Given the description of an element on the screen output the (x, y) to click on. 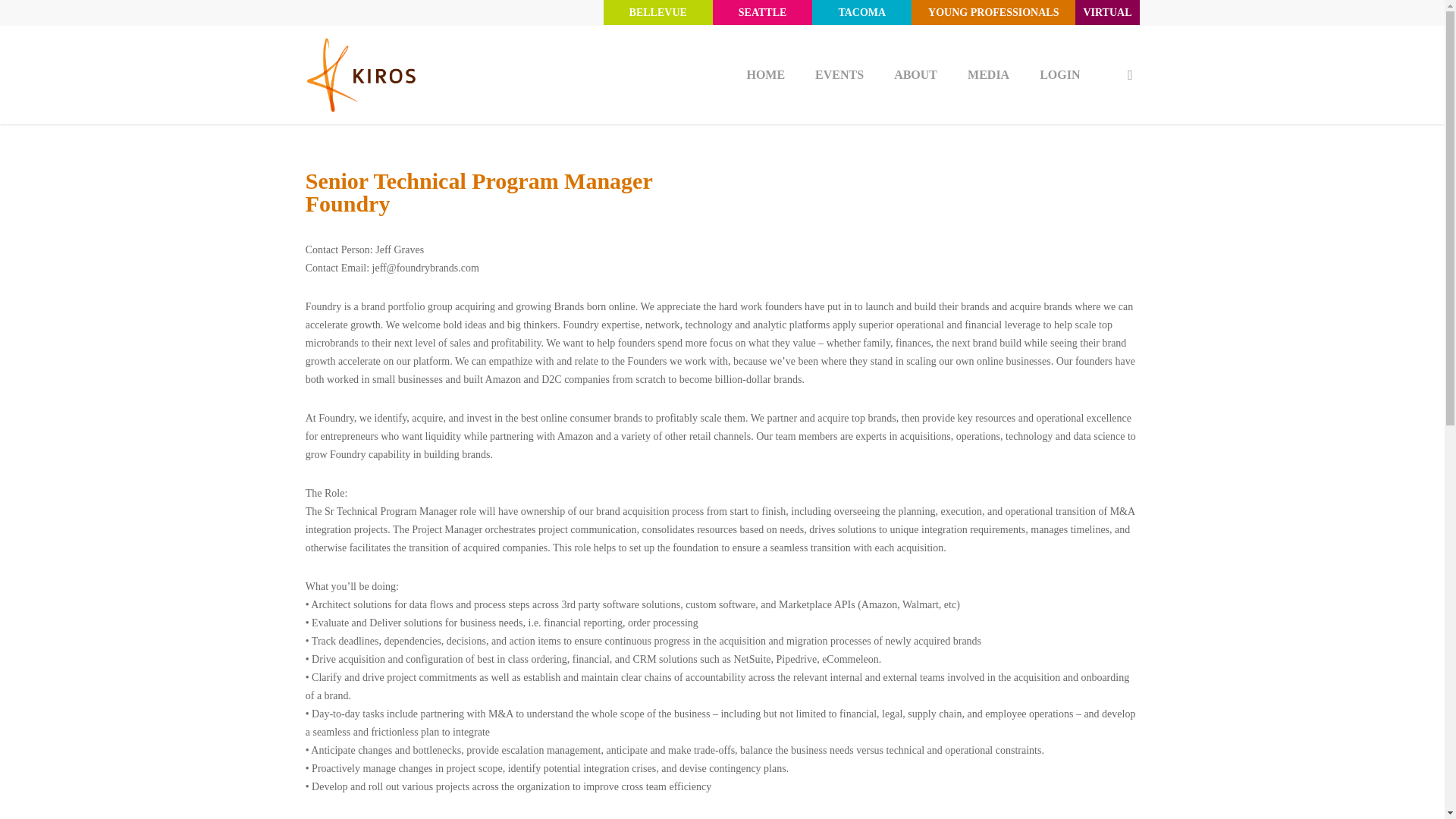
ABOUT (915, 74)
search (1129, 74)
MEDIA (988, 74)
BELLEVUE (657, 12)
TACOMA (861, 12)
VIRTUAL (1106, 12)
SEATTLE (762, 12)
EVENTS (839, 74)
LOGIN (1059, 74)
HOME (764, 74)
